Given the description of an element on the screen output the (x, y) to click on. 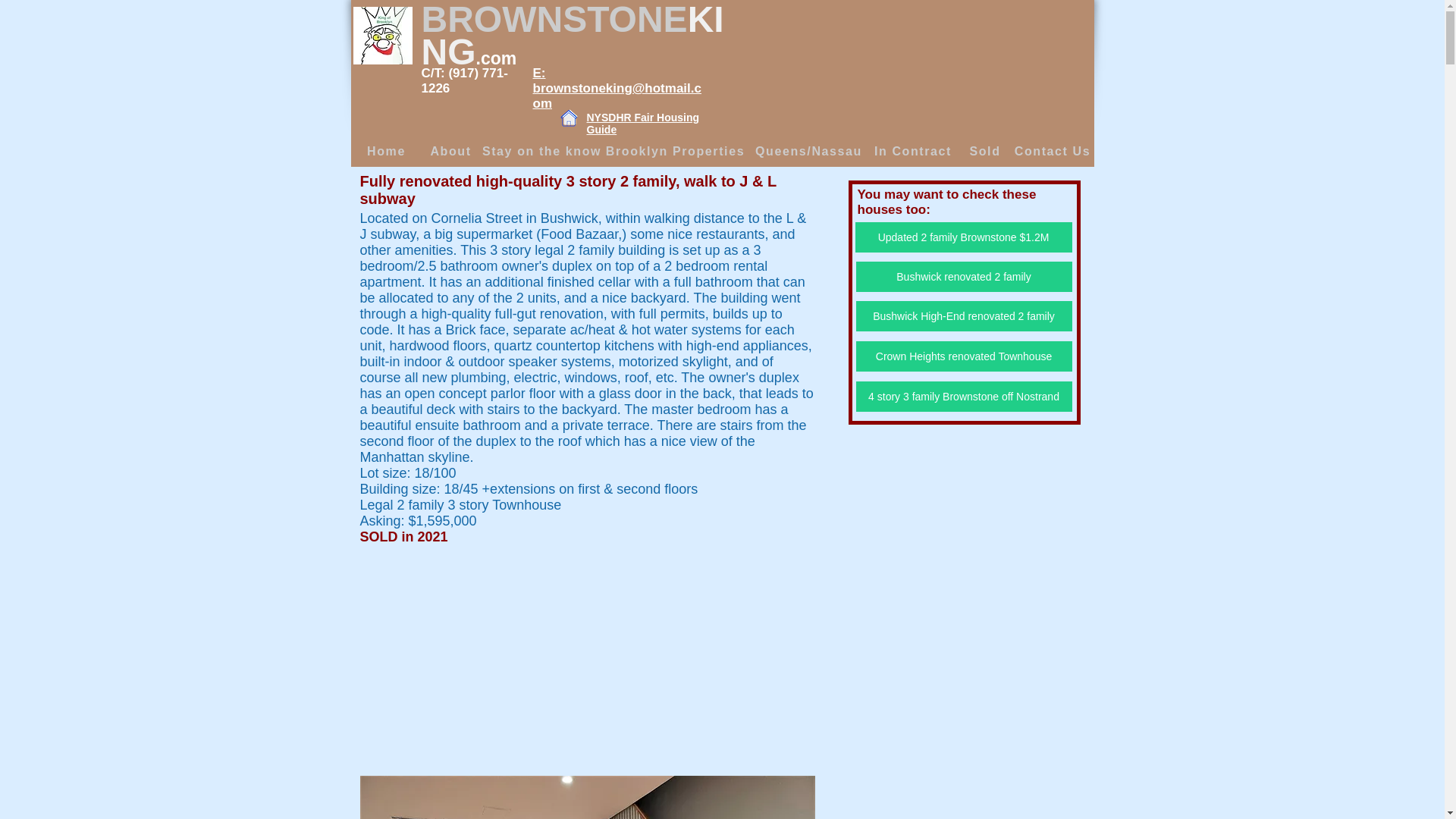
Home (388, 151)
About (452, 151)
NYSDHR Fair Housing Guide (643, 123)
BROWNSTONEKING.com (572, 36)
Brooklyn Properties (677, 151)
Bushwick High-End renovated 2 family (963, 316)
Sold (985, 151)
Stay on the know (543, 151)
Crown Heights renovated Townhouse (963, 356)
Bushwick renovated 2 family (963, 276)
4 story 3 family Brownstone off Nostrand (963, 396)
In Contract (914, 151)
Contact Us (1054, 151)
